Given the description of an element on the screen output the (x, y) to click on. 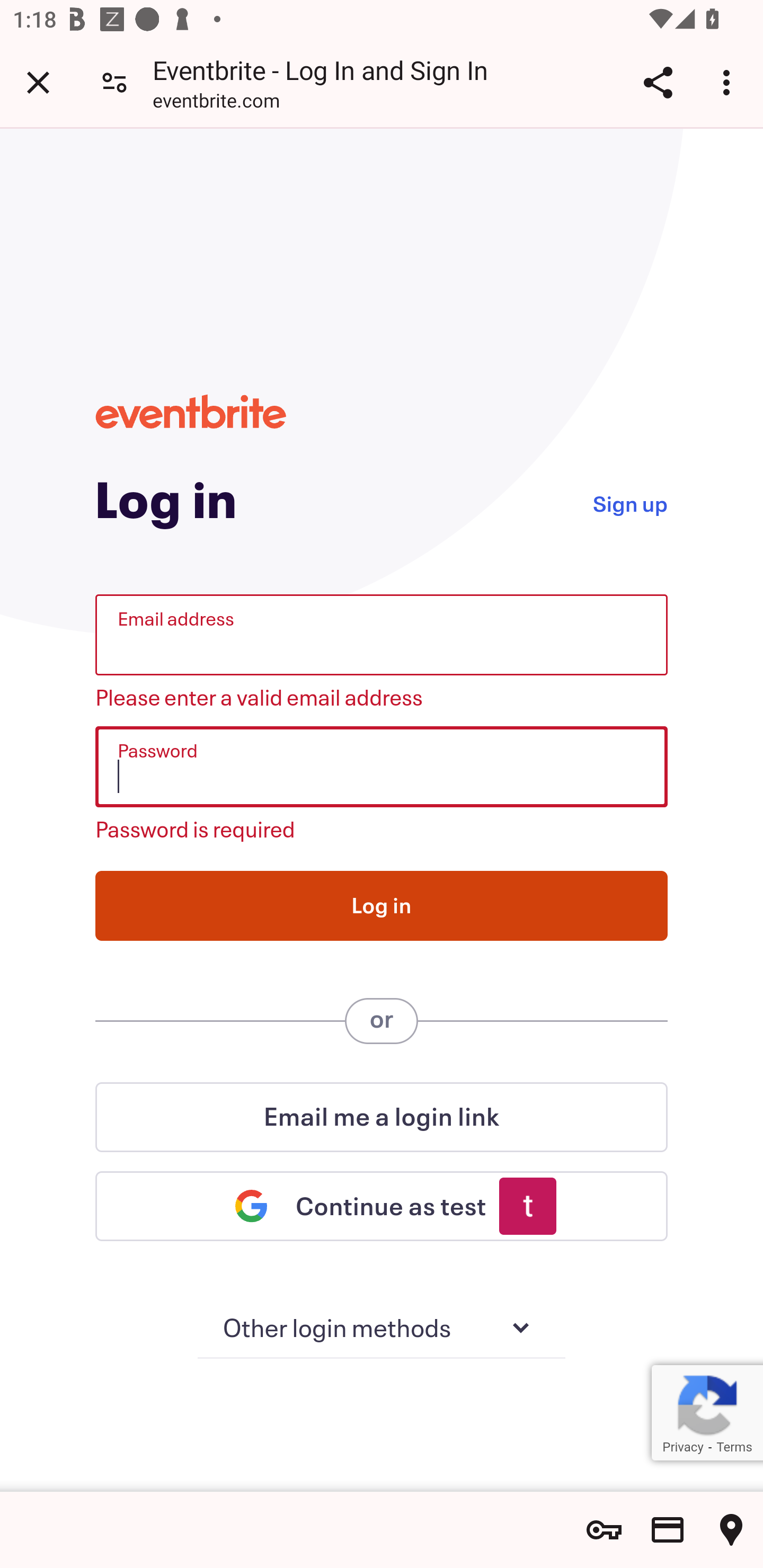
Close tab (38, 82)
Share (657, 82)
Customize and control Google Chrome (729, 82)
Connection is secure (114, 81)
eventbrite.com (216, 103)
www.eventbrite (190, 411)
Sign up (629, 502)
Log in (381, 905)
Email me a login link (381, 1116)
Other login methods Toggle Content (381, 1328)
Privacy (682, 1447)
Terms (734, 1447)
Show saved passwords and password options (603, 1530)
Show saved payment methods (667, 1530)
Show saved addresses (731, 1530)
